Given the description of an element on the screen output the (x, y) to click on. 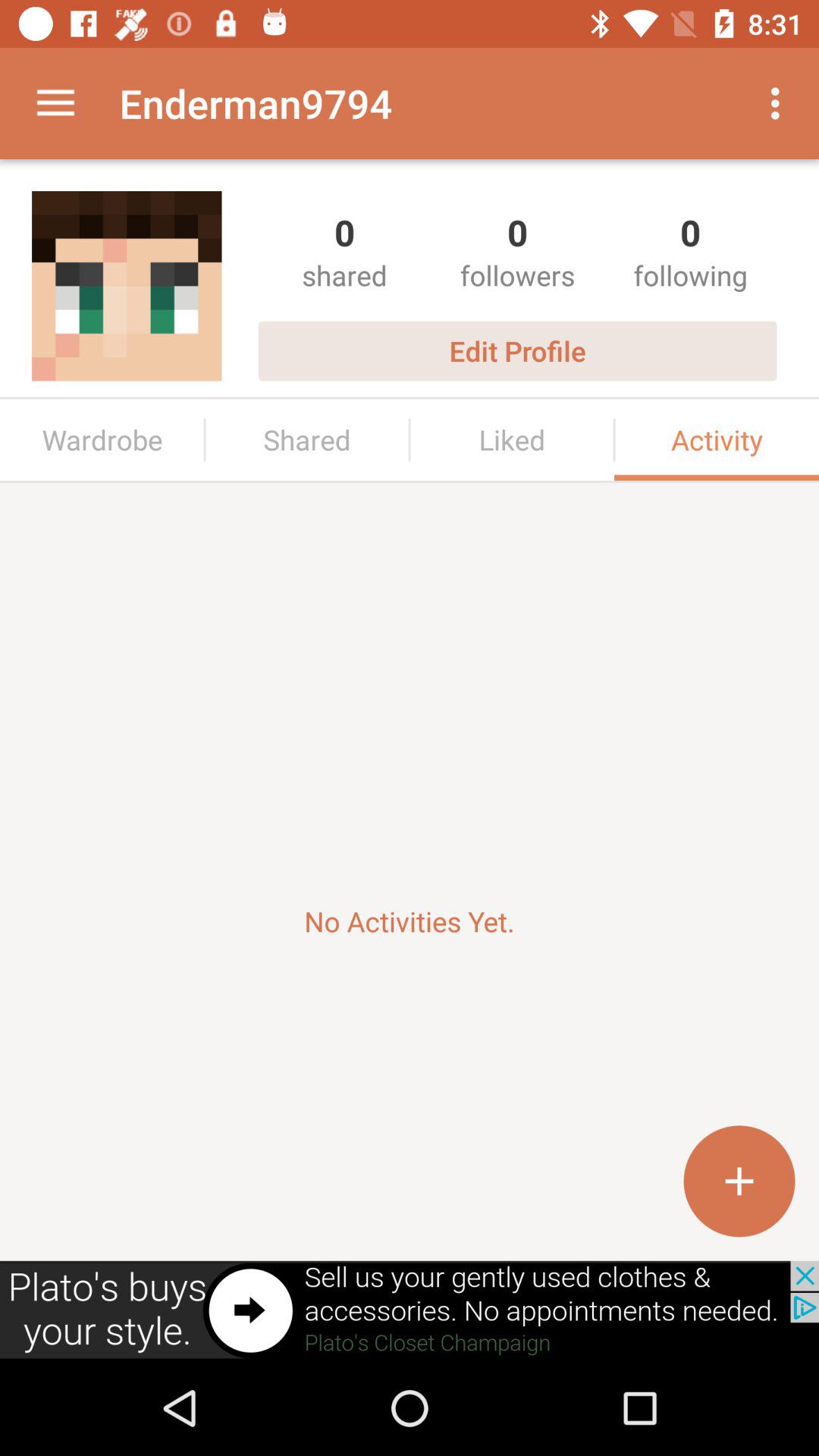
advertisement (409, 1310)
